Given the description of an element on the screen output the (x, y) to click on. 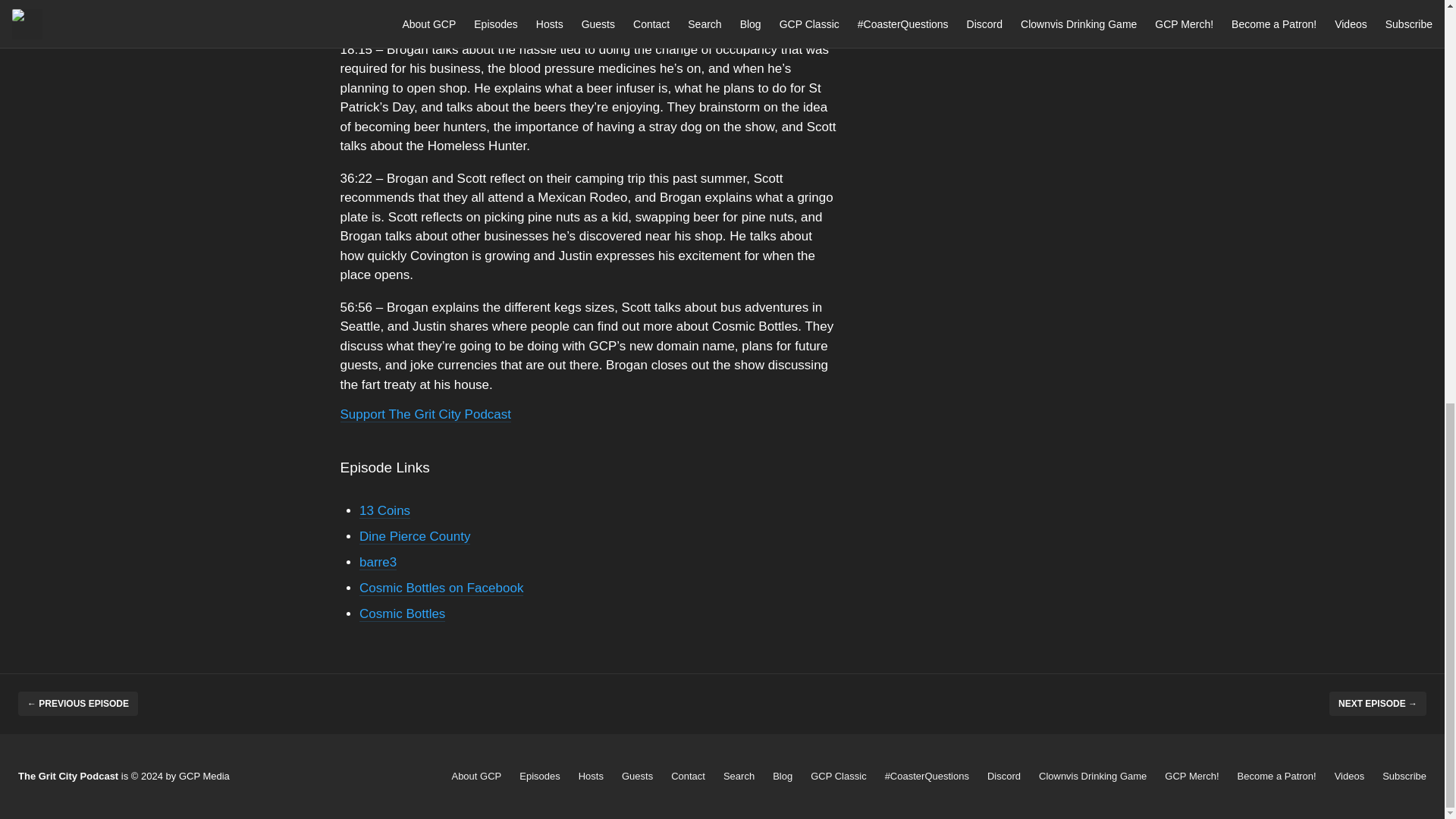
Cosmic Bottles (402, 613)
Dine Pierce County (414, 536)
13 Coins (384, 510)
Cosmic Bottles on Facebook (440, 587)
barre3  (377, 562)
